Given the description of an element on the screen output the (x, y) to click on. 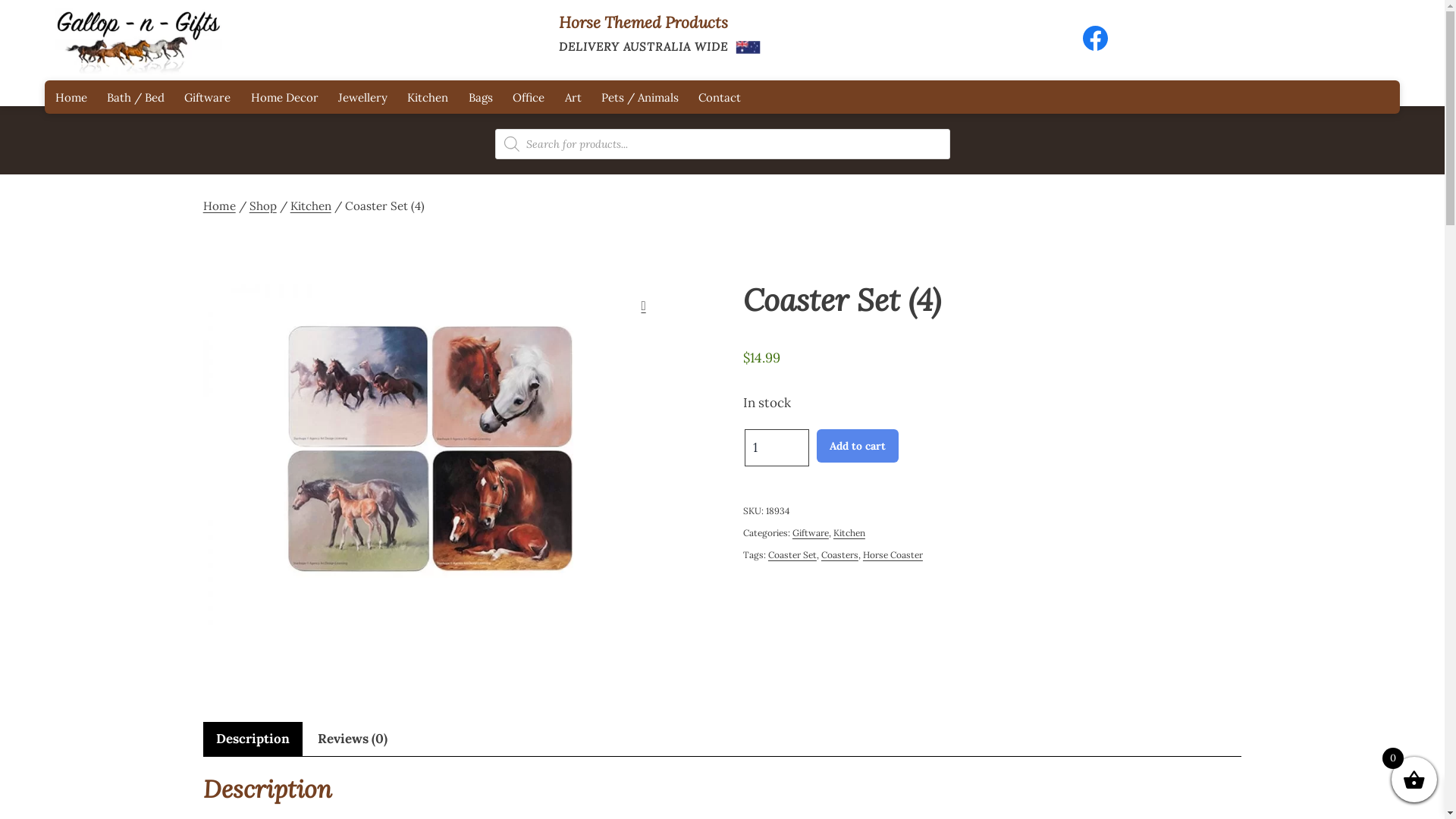
Add to cart Element type: text (857, 445)
Coaster Set Element type: text (792, 554)
Qty Element type: hover (776, 447)
Pets / Animals Element type: text (639, 96)
Giftware Element type: text (810, 532)
Horse Coaster Element type: text (892, 554)
Description Element type: text (252, 738)
Home Element type: text (219, 205)
Office Element type: text (528, 96)
Facebook icon Element type: text (1102, 45)
Reviews (0) Element type: text (352, 738)
Kitchen Element type: text (427, 96)
Bath / Bed Element type: text (135, 96)
Giftware Element type: text (207, 96)
Kitchen Element type: text (849, 532)
Home Element type: text (70, 96)
Coasters Element type: text (839, 554)
Bags Element type: text (480, 96)
Kitchen Element type: text (310, 205)
adhdene-coasters Element type: hover (430, 453)
Contact Element type: text (719, 96)
Shop Element type: text (262, 205)
Jewellery Element type: text (362, 96)
Home Decor Element type: text (283, 96)
Art Element type: text (572, 96)
